Given the description of an element on the screen output the (x, y) to click on. 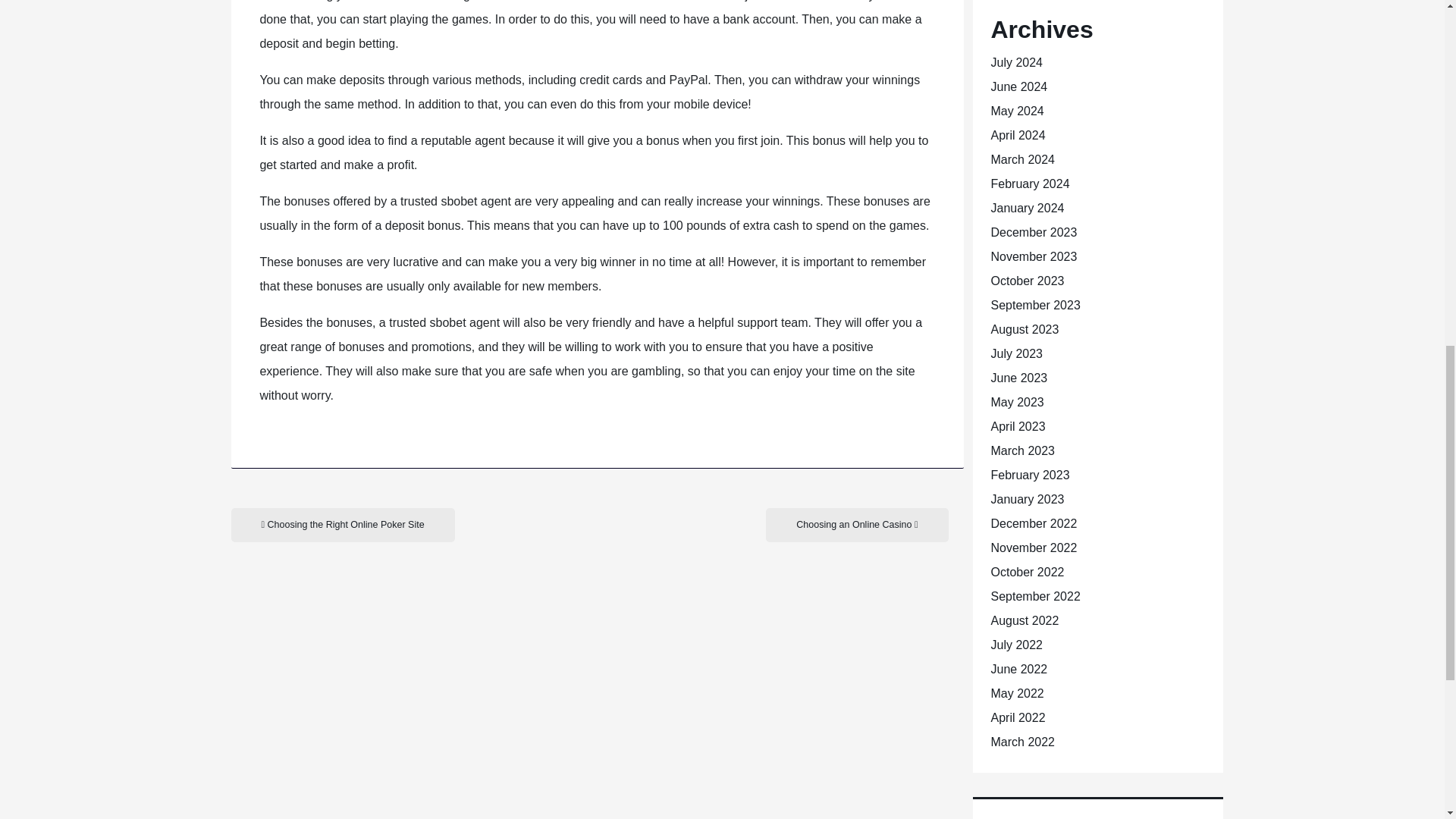
October 2023 (1027, 280)
September 2022 (1035, 595)
January 2023 (1027, 499)
July 2024 (1016, 62)
October 2022 (1027, 571)
April 2023 (1017, 426)
September 2023 (1035, 305)
November 2023 (1033, 256)
November 2022 (1033, 547)
June 2024 (1018, 86)
December 2022 (1033, 522)
July 2023 (1016, 353)
May 2023 (1016, 401)
March 2023 (1022, 450)
August 2022 (1024, 620)
